Given the description of an element on the screen output the (x, y) to click on. 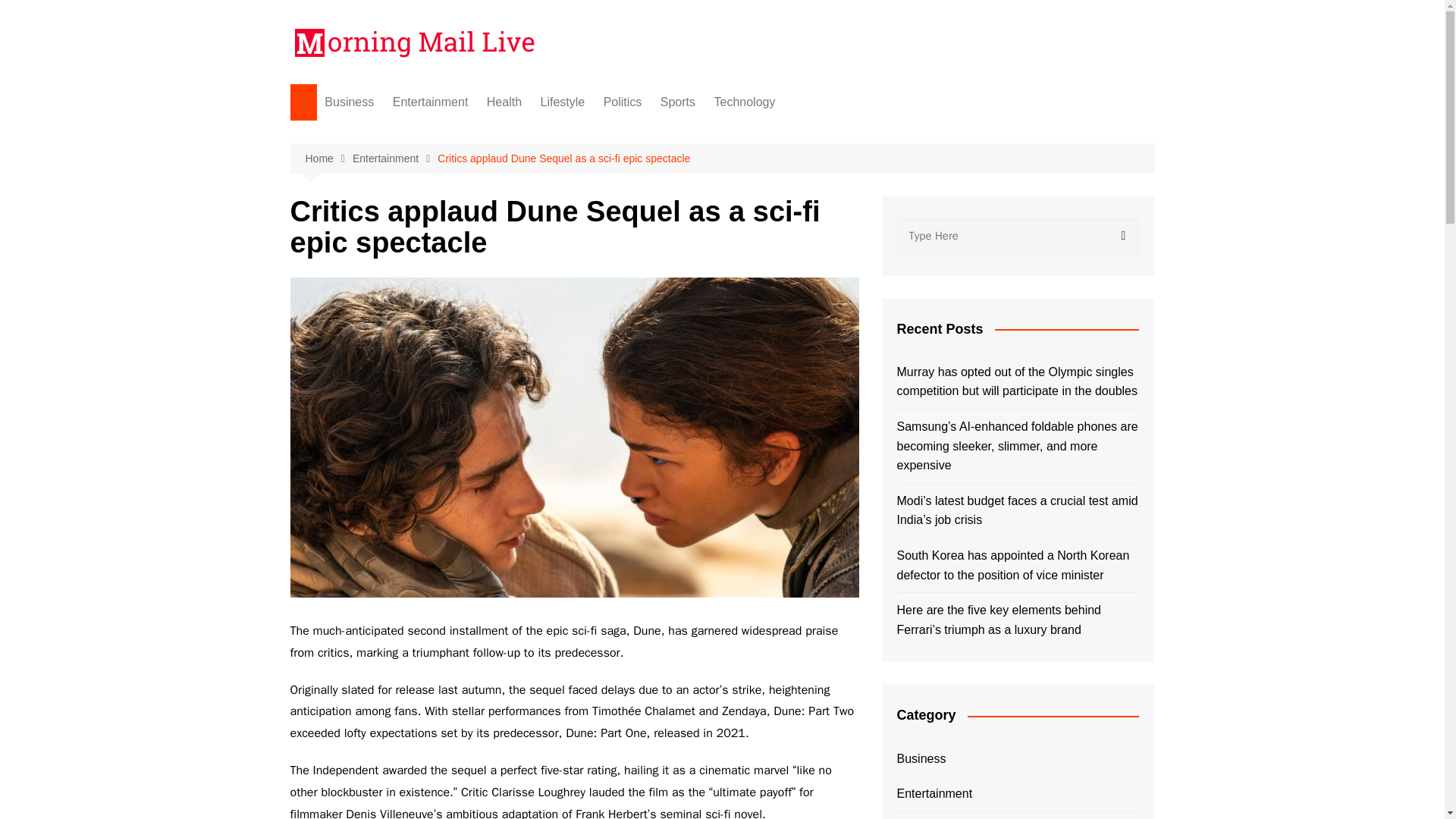
Critics applaud Dune Sequel as a sci-fi epic spectacle (564, 158)
Sports (677, 102)
Business (920, 759)
Health (504, 102)
Home (328, 158)
Politics (622, 102)
Business (349, 102)
Entertainment (430, 102)
Lifestyle (562, 102)
Entertainment (395, 158)
Technology (744, 102)
